Given the description of an element on the screen output the (x, y) to click on. 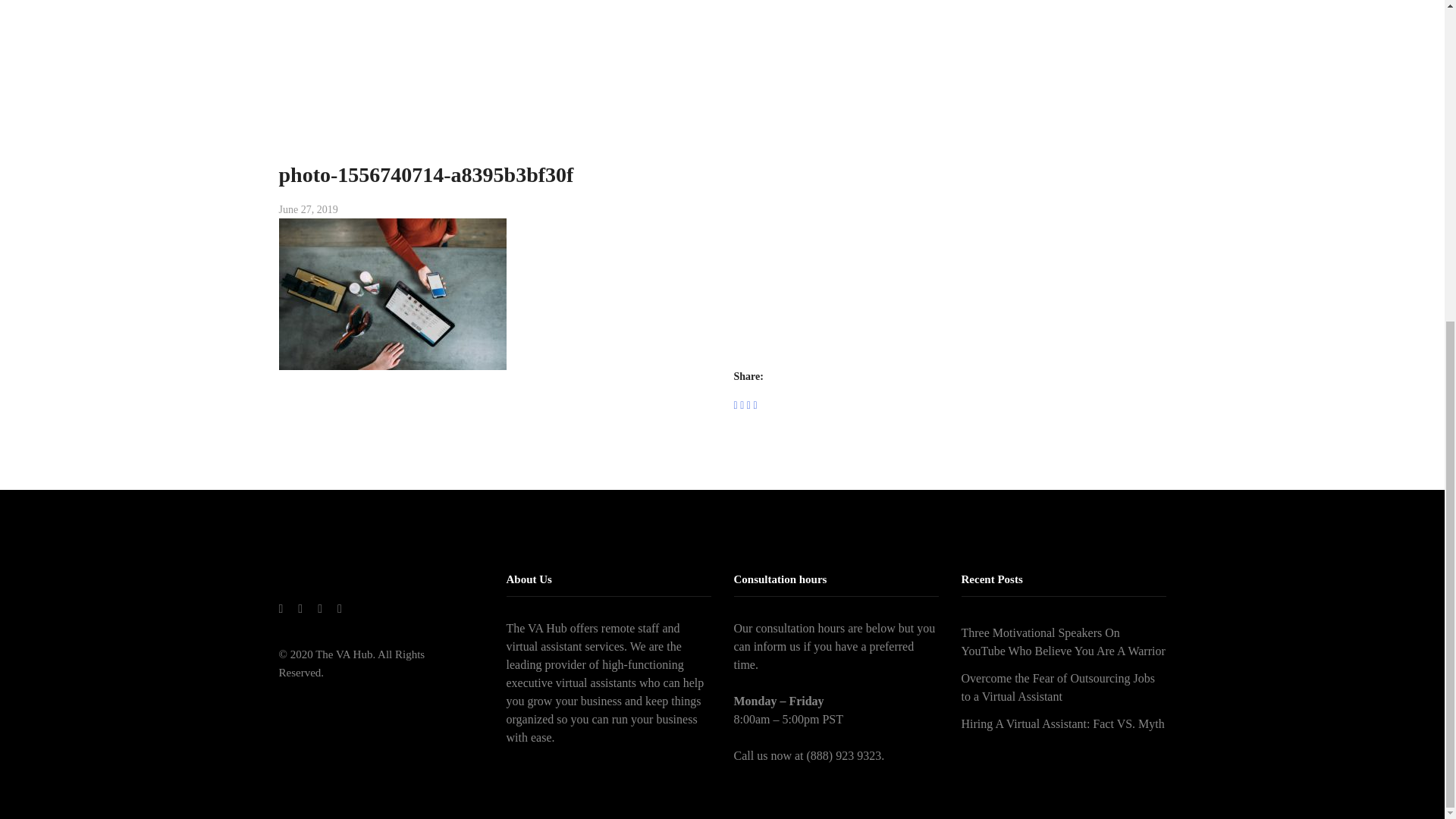
Hiring A Virtual Assistant: Fact VS. Myth (1063, 723)
Overcome the Fear of Outsourcing Jobs to a Virtual Assistant (1063, 687)
Top 4 Apps To Fix Your Payment Processes This 2019 (725, 32)
Filipino Virtual Assistant (537, 32)
Home (454, 32)
